Given the description of an element on the screen output the (x, y) to click on. 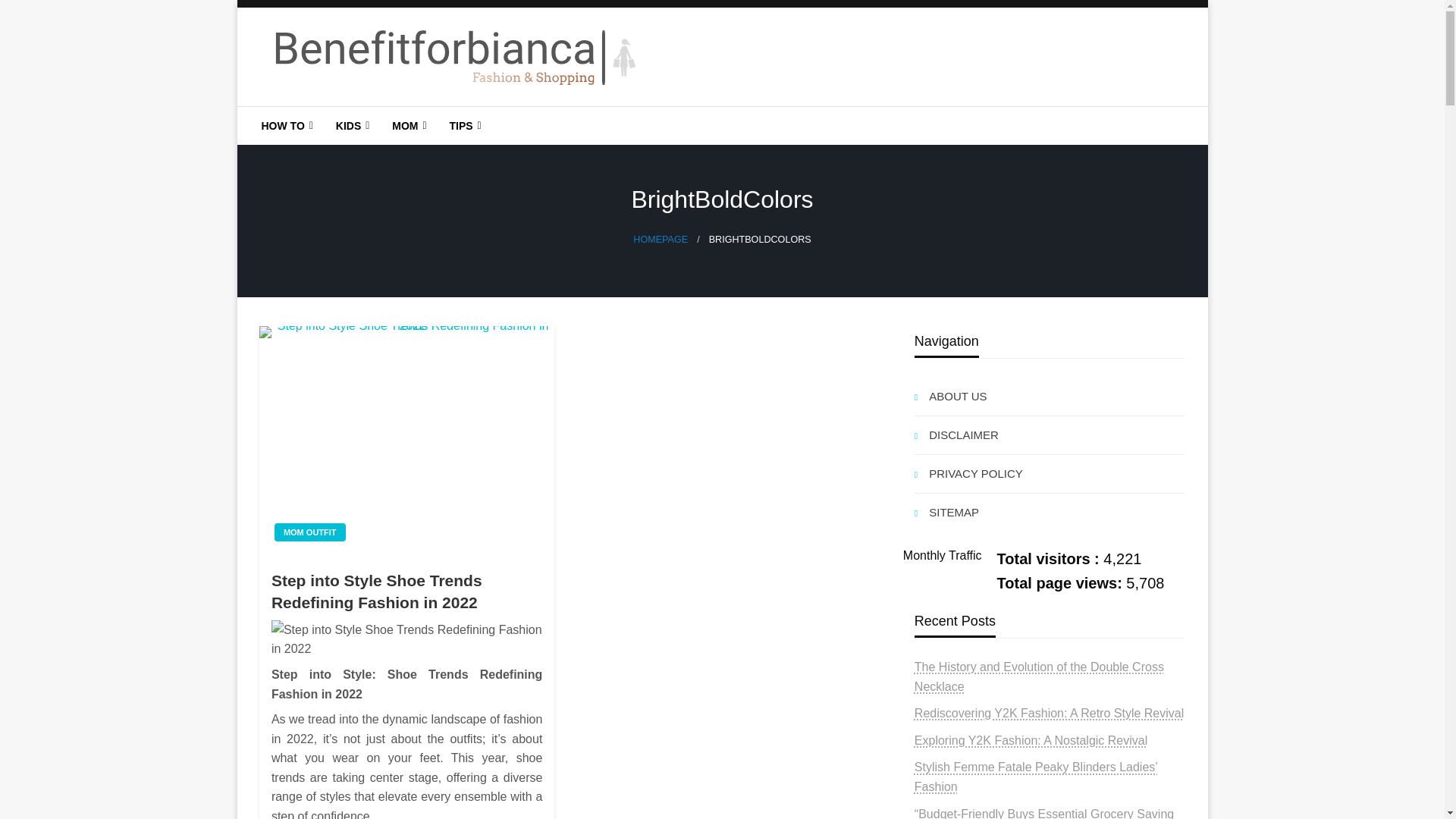
Homepage (660, 239)
The History and Evolution of the Double Cross Necklace (1038, 676)
ABOUT US (1049, 395)
Step into Style Shoe Trends Redefining Fashion in 2022 (406, 439)
SITEMAP (1049, 512)
Step into Style Shoe Trends Redefining Fashion in 2022 (405, 639)
BenefitforBianca (374, 118)
PRIVACY POLICY (1049, 473)
KIDS (350, 125)
Step into Style Shoe Trends Redefining Fashion in 2022 (405, 591)
HOMEPAGE (660, 239)
TIPS (462, 125)
MOM (406, 125)
MOM OUTFIT (310, 532)
HOW TO (285, 125)
